Given the description of an element on the screen output the (x, y) to click on. 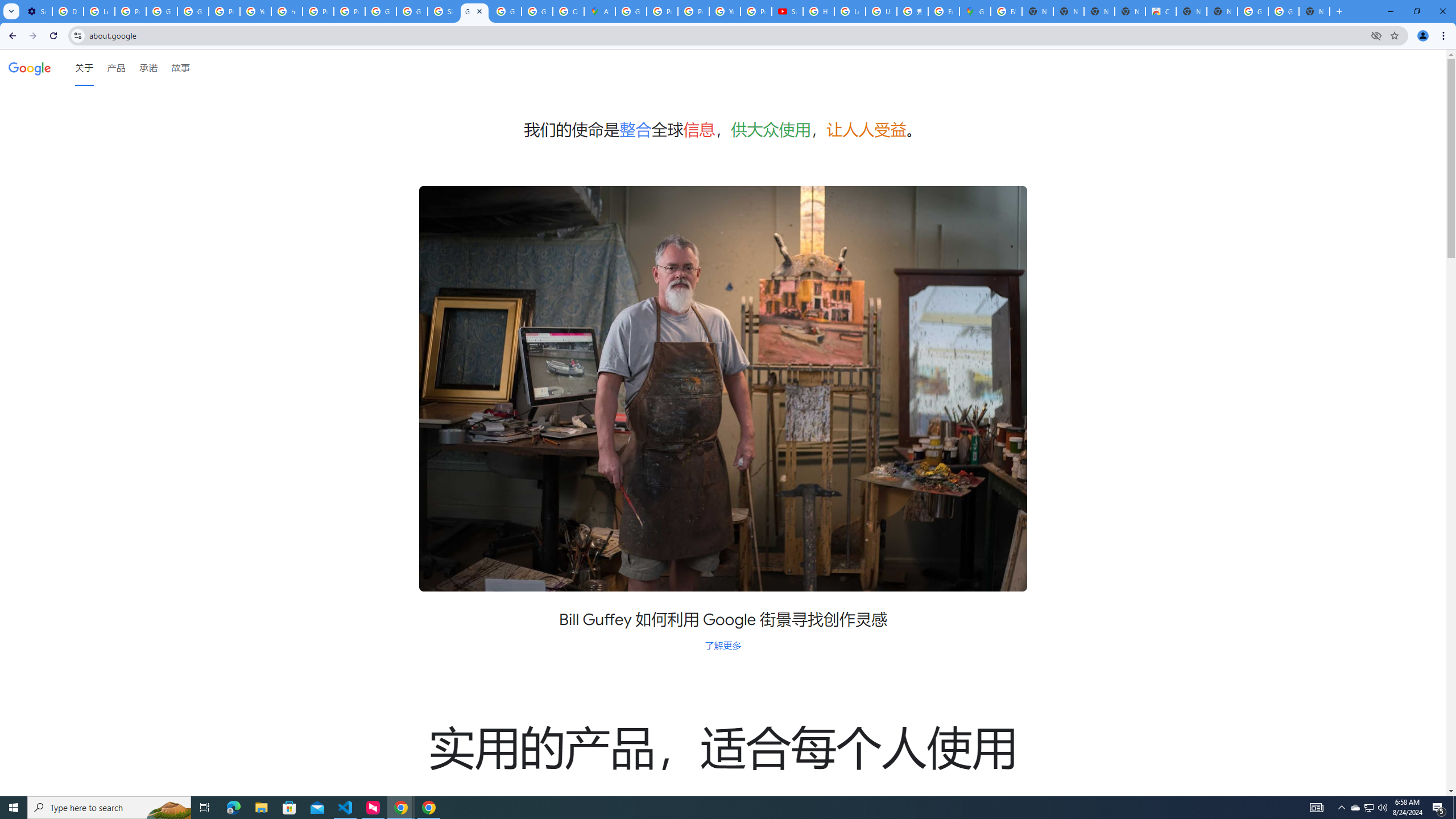
Settings - On startup (36, 11)
Create your Google Account (568, 11)
